Given the description of an element on the screen output the (x, y) to click on. 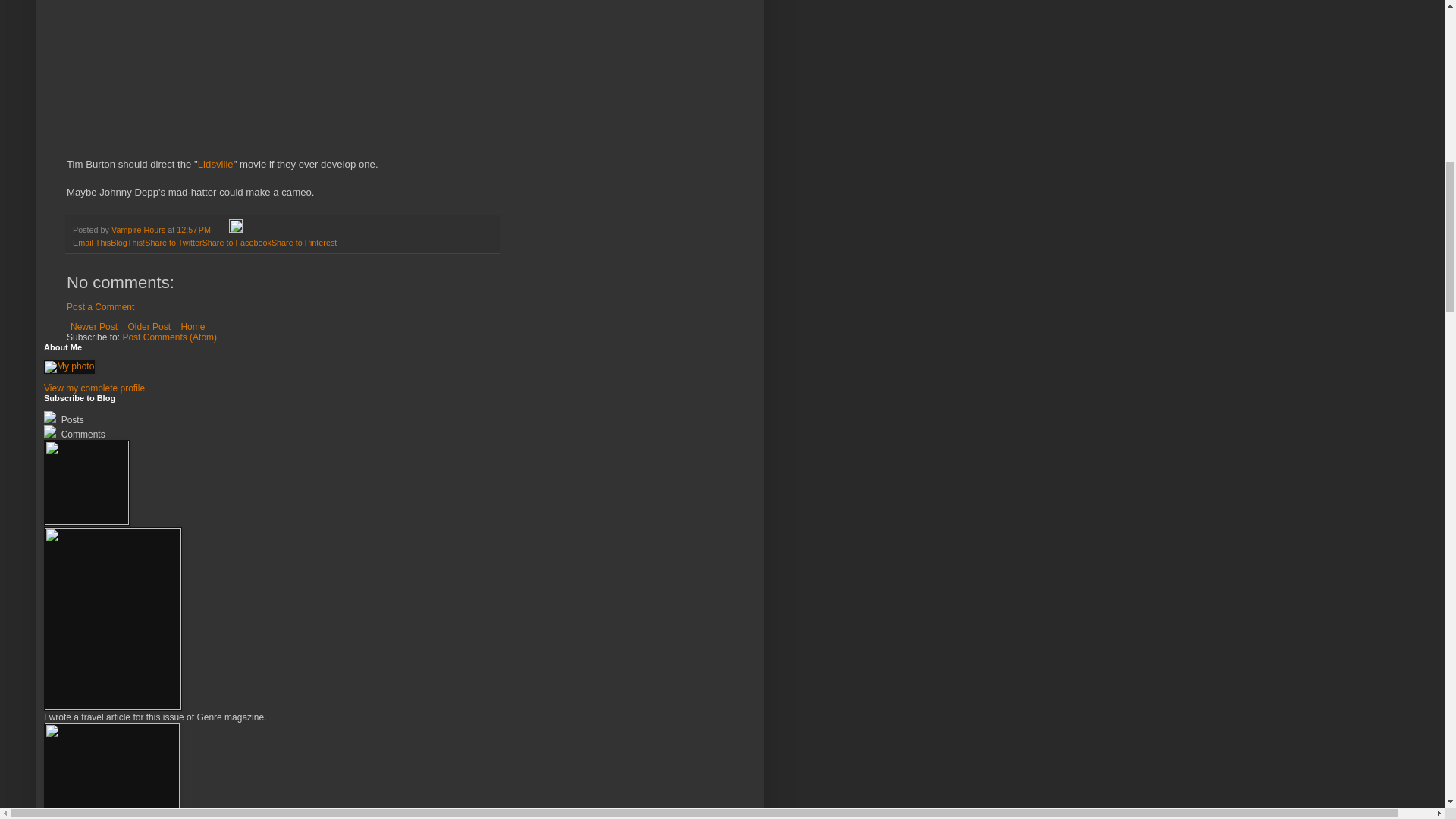
Share to Twitter (173, 242)
Share to Facebook (236, 242)
Home (192, 326)
Lidsville (215, 163)
BlogThis! (127, 242)
Share to Facebook (236, 242)
Email This (91, 242)
Older Post (148, 326)
Email This (91, 242)
Newer Post (93, 326)
Email Post (220, 229)
Share to Twitter (173, 242)
Share to Pinterest (303, 242)
View my complete profile (93, 388)
